Given the description of an element on the screen output the (x, y) to click on. 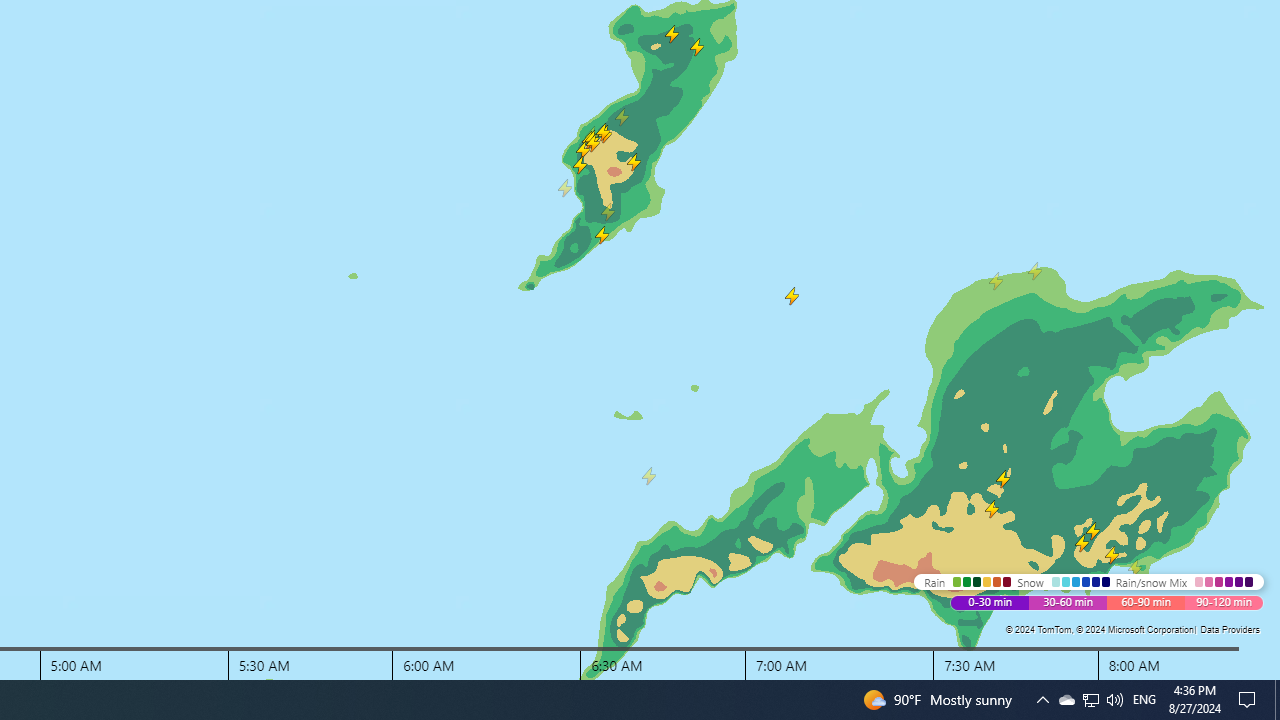
Show desktop (1277, 699)
Notification Chevron (1042, 699)
Tray Input Indicator - English (United States) (1091, 699)
User Promoted Notification Area (1144, 699)
Action Center, No new notifications (1066, 699)
Q2790: 100% (1090, 699)
